Given the description of an element on the screen output the (x, y) to click on. 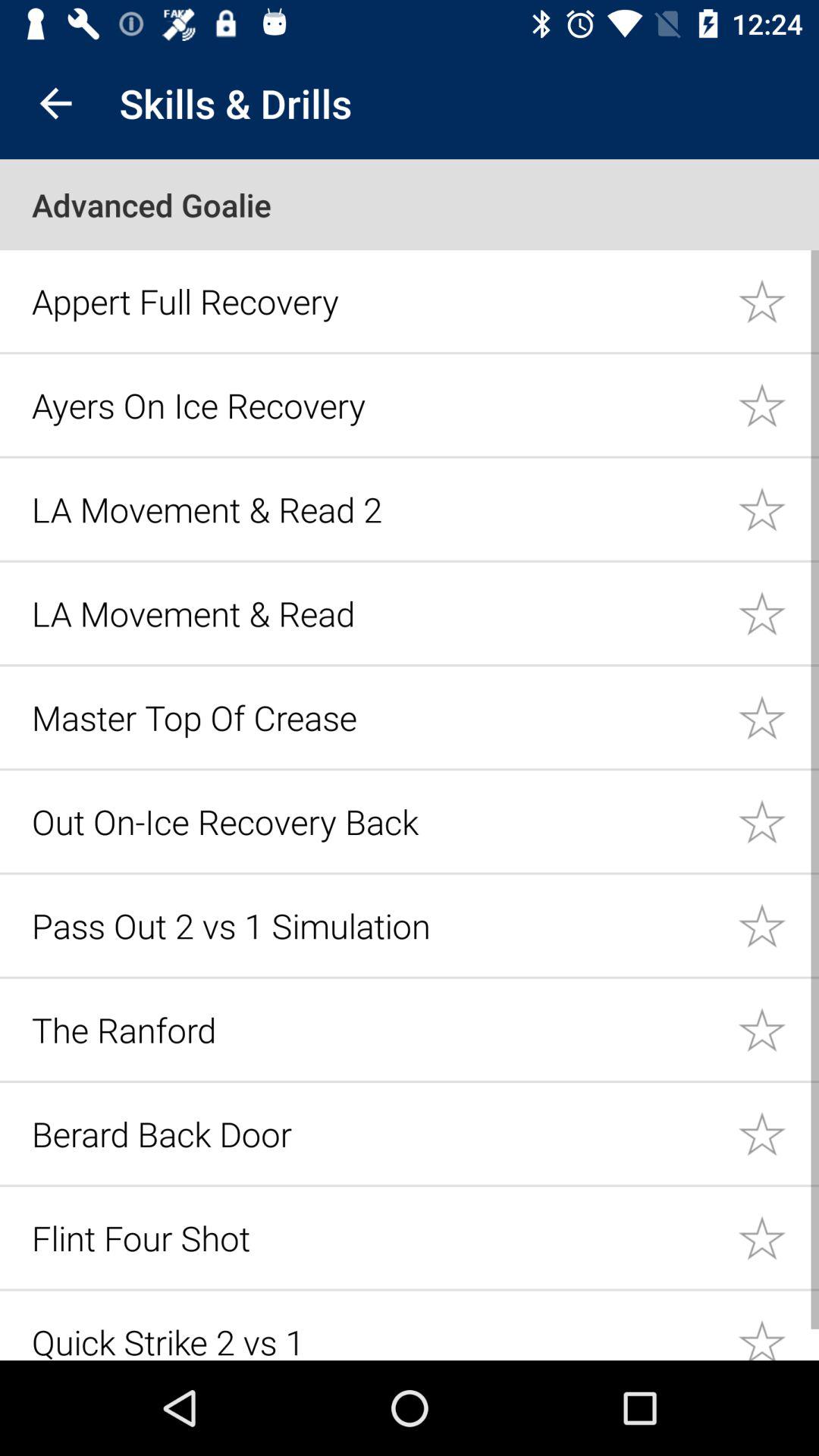
favorite item (778, 300)
